Given the description of an element on the screen output the (x, y) to click on. 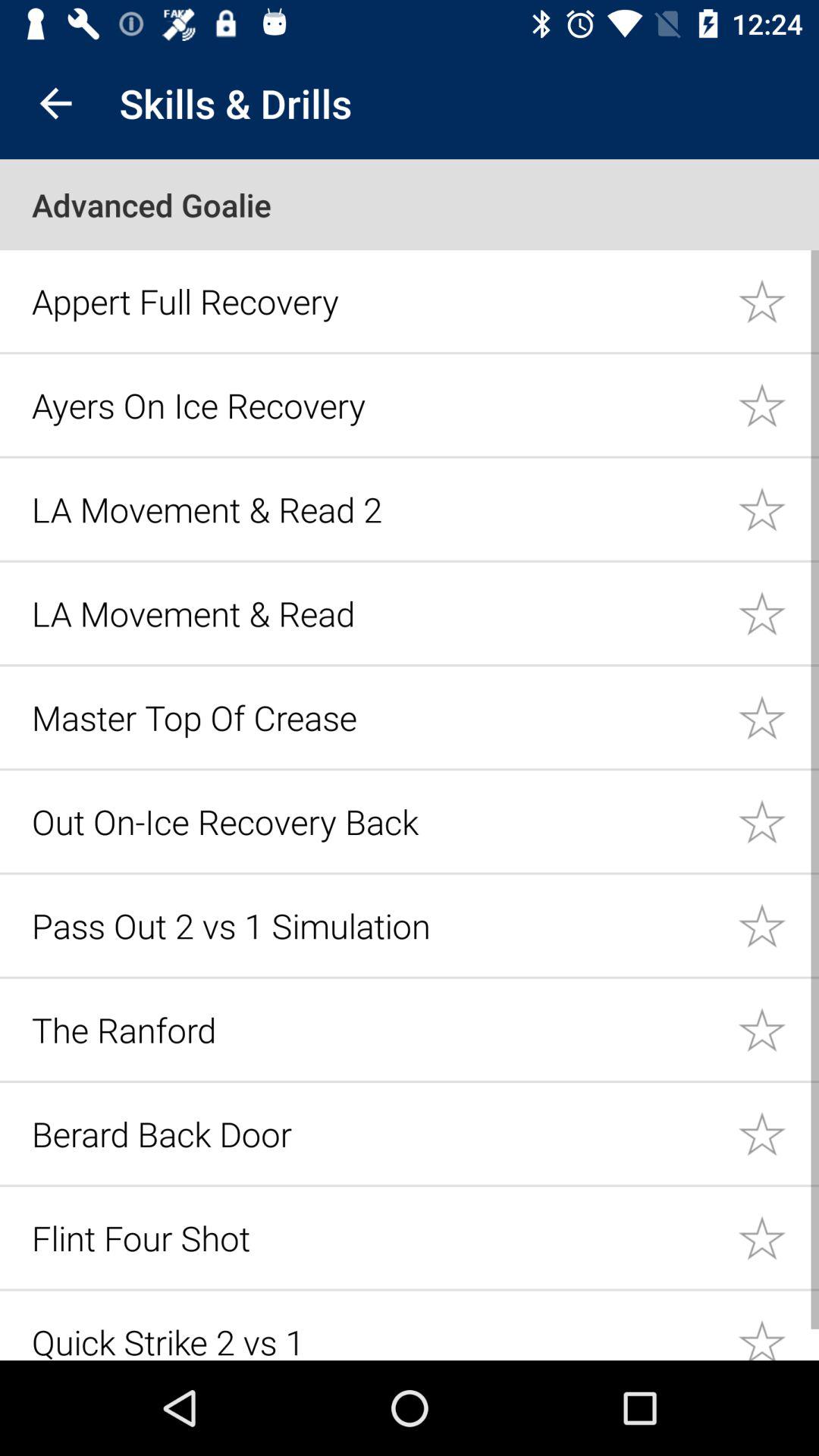
favorite item (778, 300)
